Given the description of an element on the screen output the (x, y) to click on. 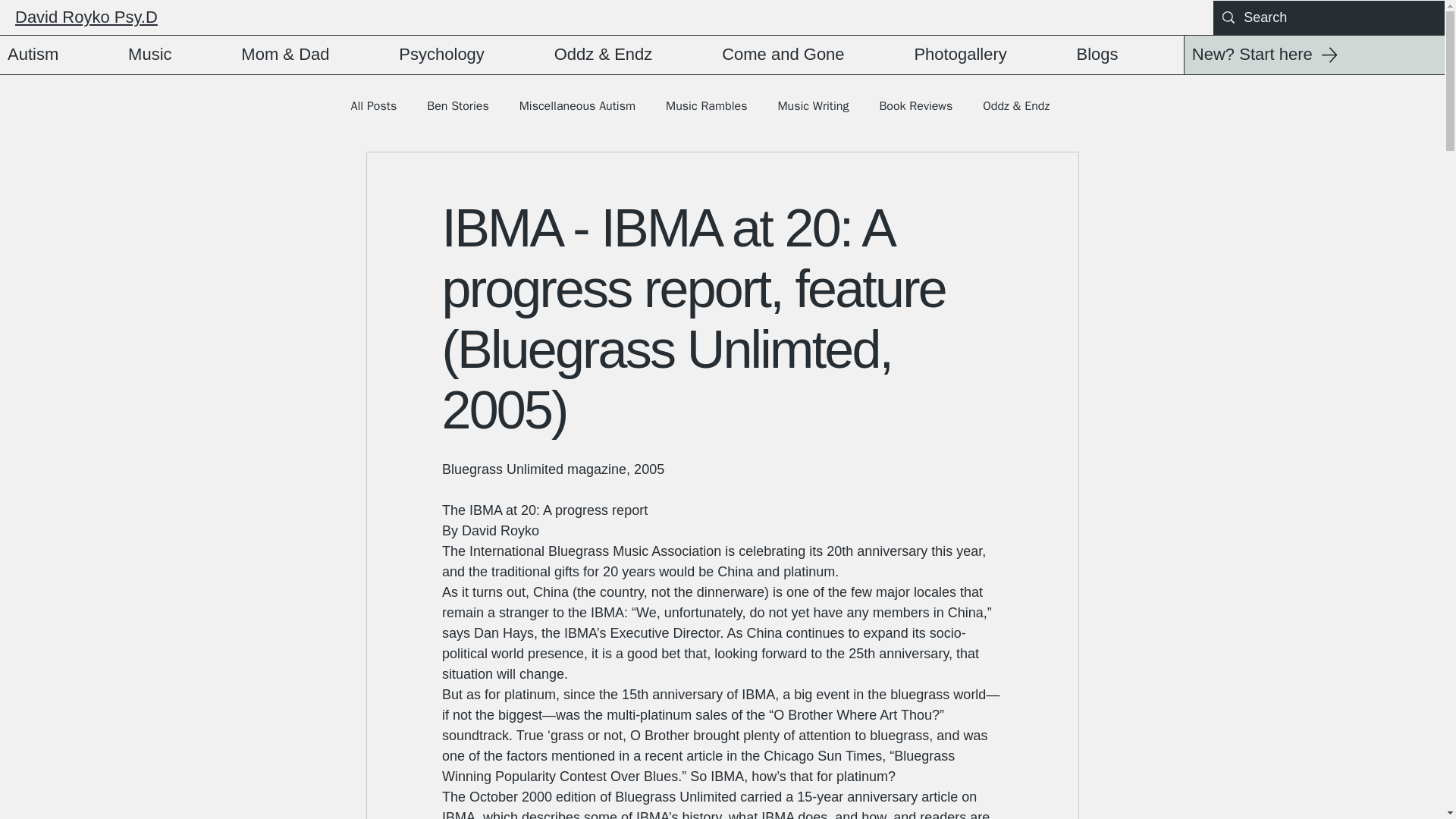
Miscellaneous Autism (576, 106)
David Royko Psy.D (85, 16)
Photogallery (986, 54)
All Posts (373, 106)
Ben Stories (456, 106)
Music Rambles (705, 106)
Music Writing (812, 106)
Book Reviews (915, 106)
